Given the description of an element on the screen output the (x, y) to click on. 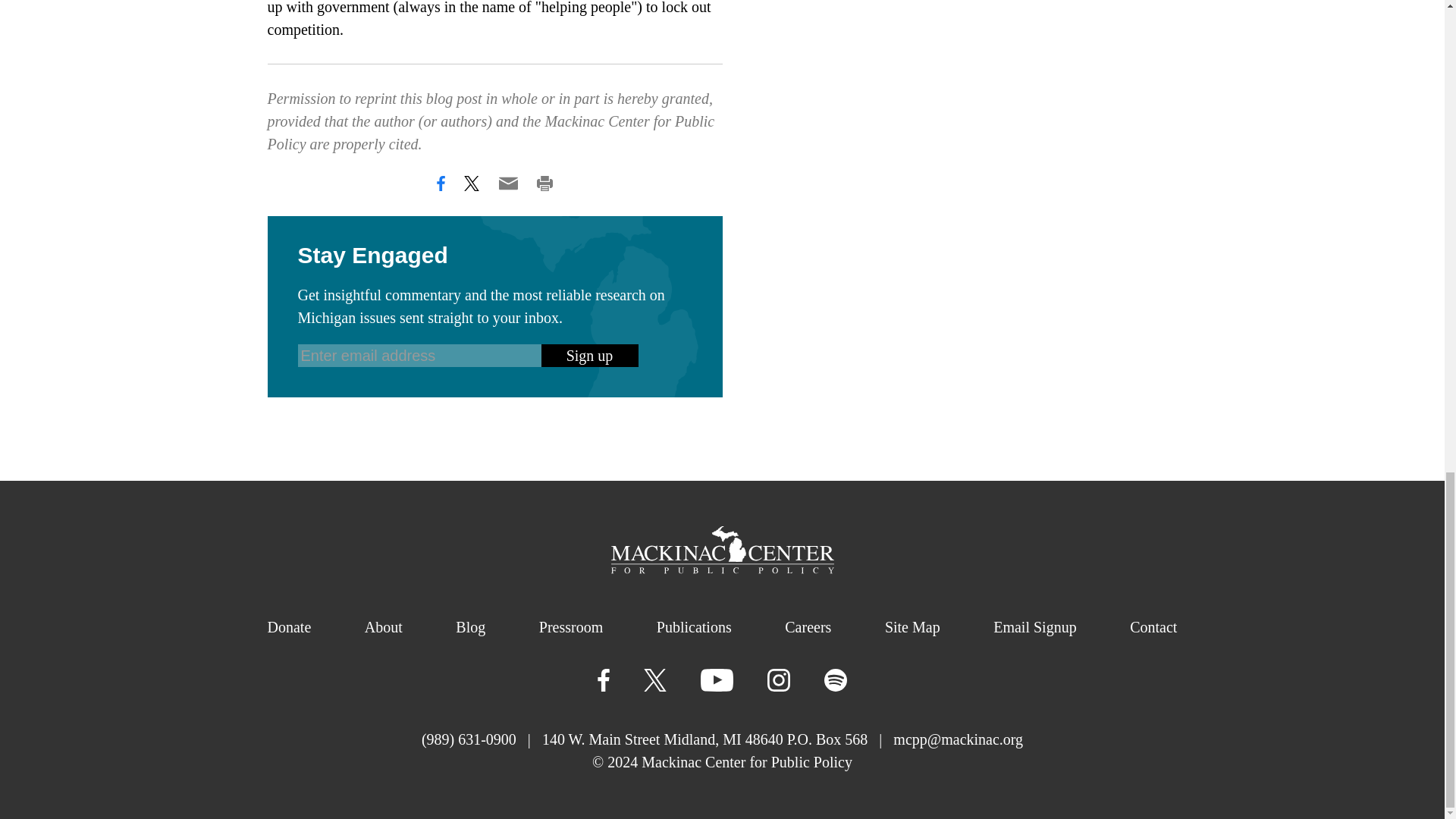
About (384, 626)
Donate (288, 626)
Sign up (590, 354)
Contact (1152, 626)
Blog (469, 626)
Site Map (912, 626)
Publications (694, 626)
Pressroom (570, 626)
Email Signup (1033, 626)
Careers (807, 626)
